Given the description of an element on the screen output the (x, y) to click on. 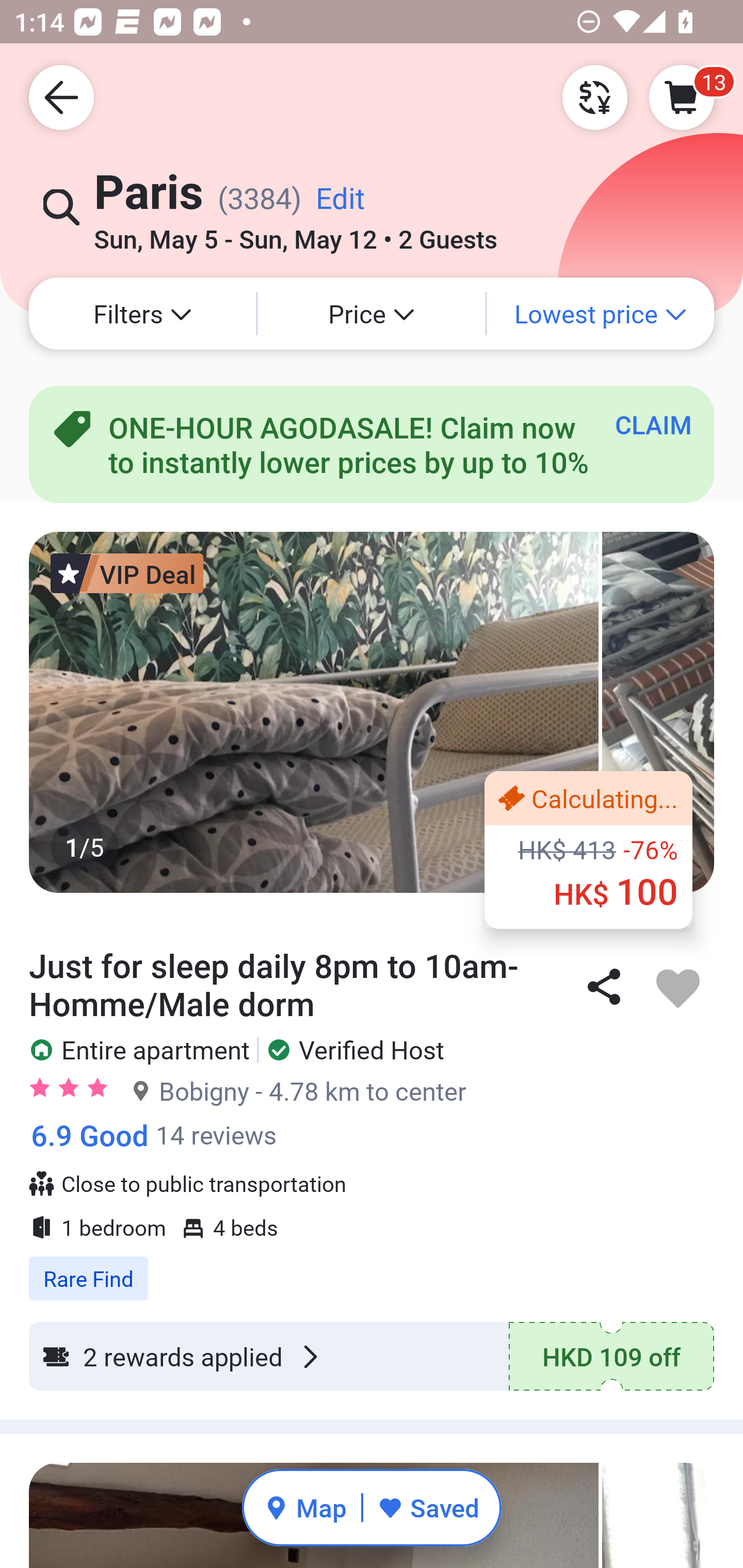
Sun, May 5 - Sun, May 12 • 2 Guests (295, 232)
Filters (141, 313)
Price (371, 313)
Lowest price (600, 313)
CLAIM (653, 424)
VIP Deal (126, 572)
1/5 (371, 711)
Calculating... ‪HK$ 413 -76% ‪HK$ 100 (588, 849)
Rare Find (371, 1267)
2 rewards applied HKD 109 off (371, 1356)
Map (305, 1507)
Saved (428, 1507)
